Given the description of an element on the screen output the (x, y) to click on. 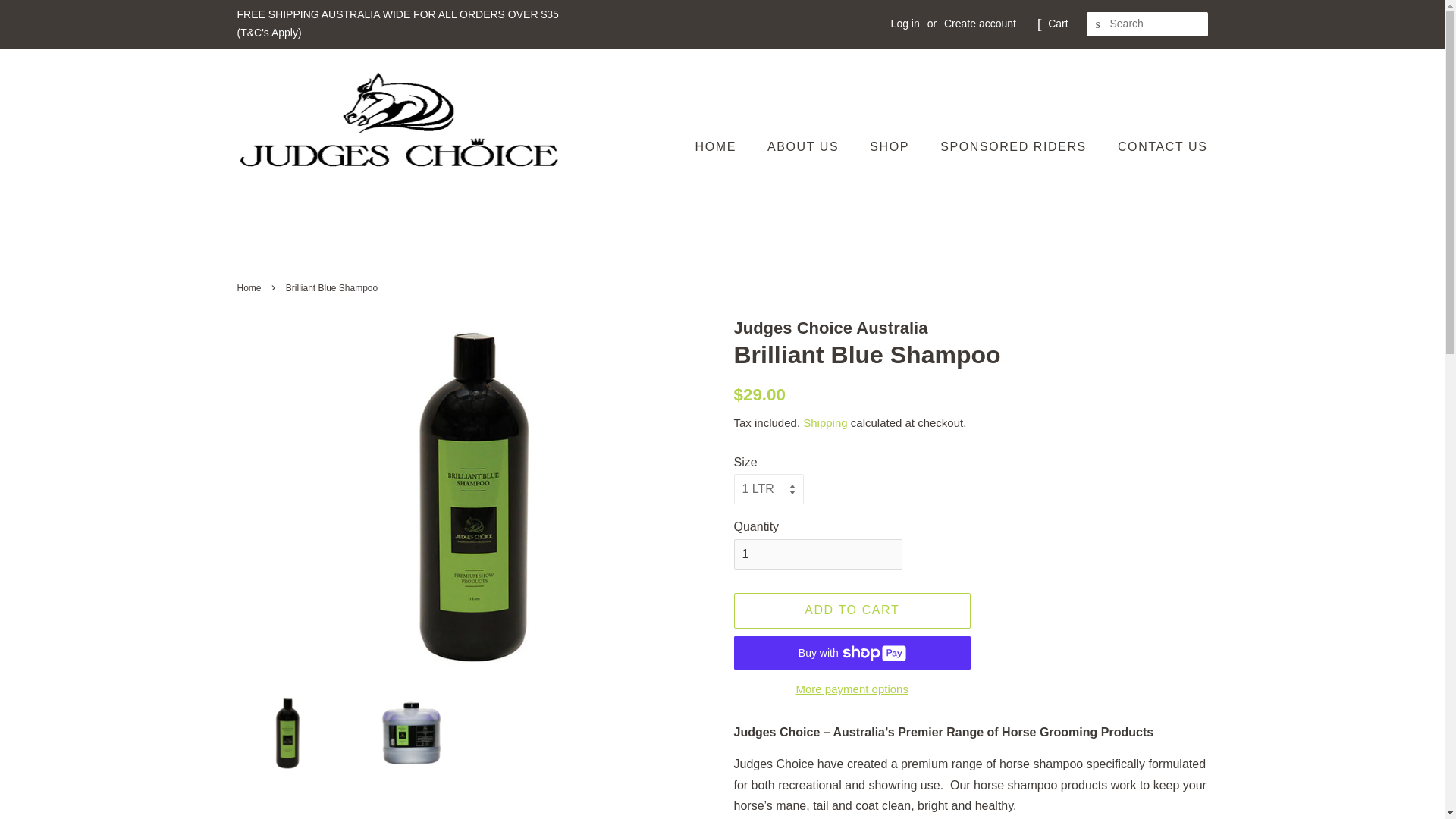
Create account (979, 23)
SEARCH (1097, 24)
Cart (1057, 24)
Log in (905, 23)
Home (249, 287)
ADD TO CART (852, 610)
HOME (723, 146)
ABOUT US (804, 146)
Back to the frontpage (249, 287)
SHOP (891, 146)
SPONSORED RIDERS (1015, 146)
CONTACT US (1157, 146)
1 (817, 554)
More payment options (852, 688)
Shipping (825, 422)
